Given the description of an element on the screen output the (x, y) to click on. 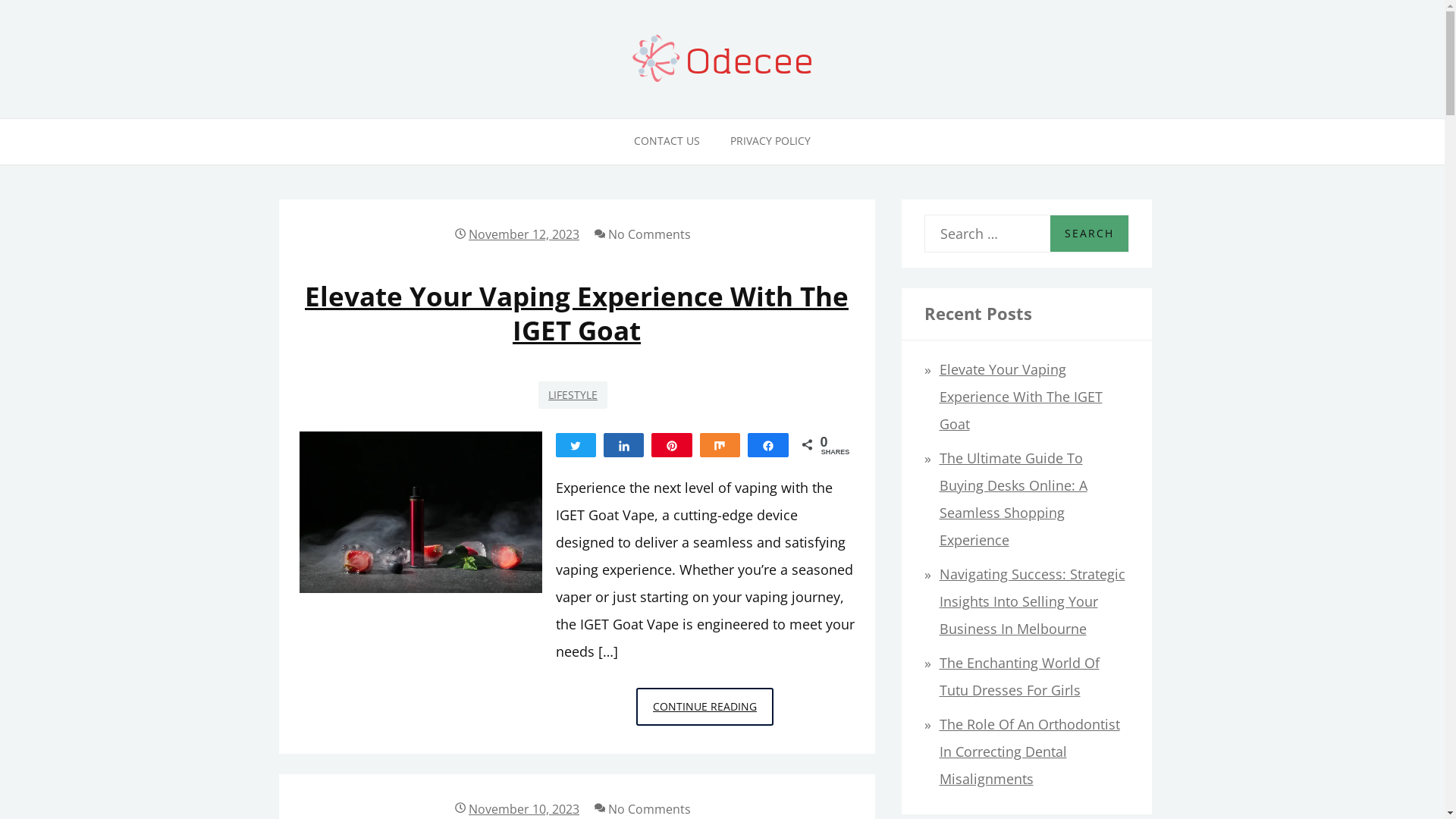
November 10, 2023 Element type: text (523, 808)
PRIVACY POLICY Element type: text (770, 141)
Odecee Element type: text (59, 142)
CONTACT US Element type: text (666, 141)
LIFESTYLE Element type: text (572, 394)
Elevate Your Vaping Experience With The IGET Goat Element type: text (1019, 396)
Search Element type: text (1088, 233)
Elevate Your Vaping Experience With The IGET Goat Element type: text (576, 313)
The Enchanting World Of Tutu Dresses For Girls Element type: text (1018, 676)
November 12, 2023 Element type: text (523, 233)
